Given the description of an element on the screen output the (x, y) to click on. 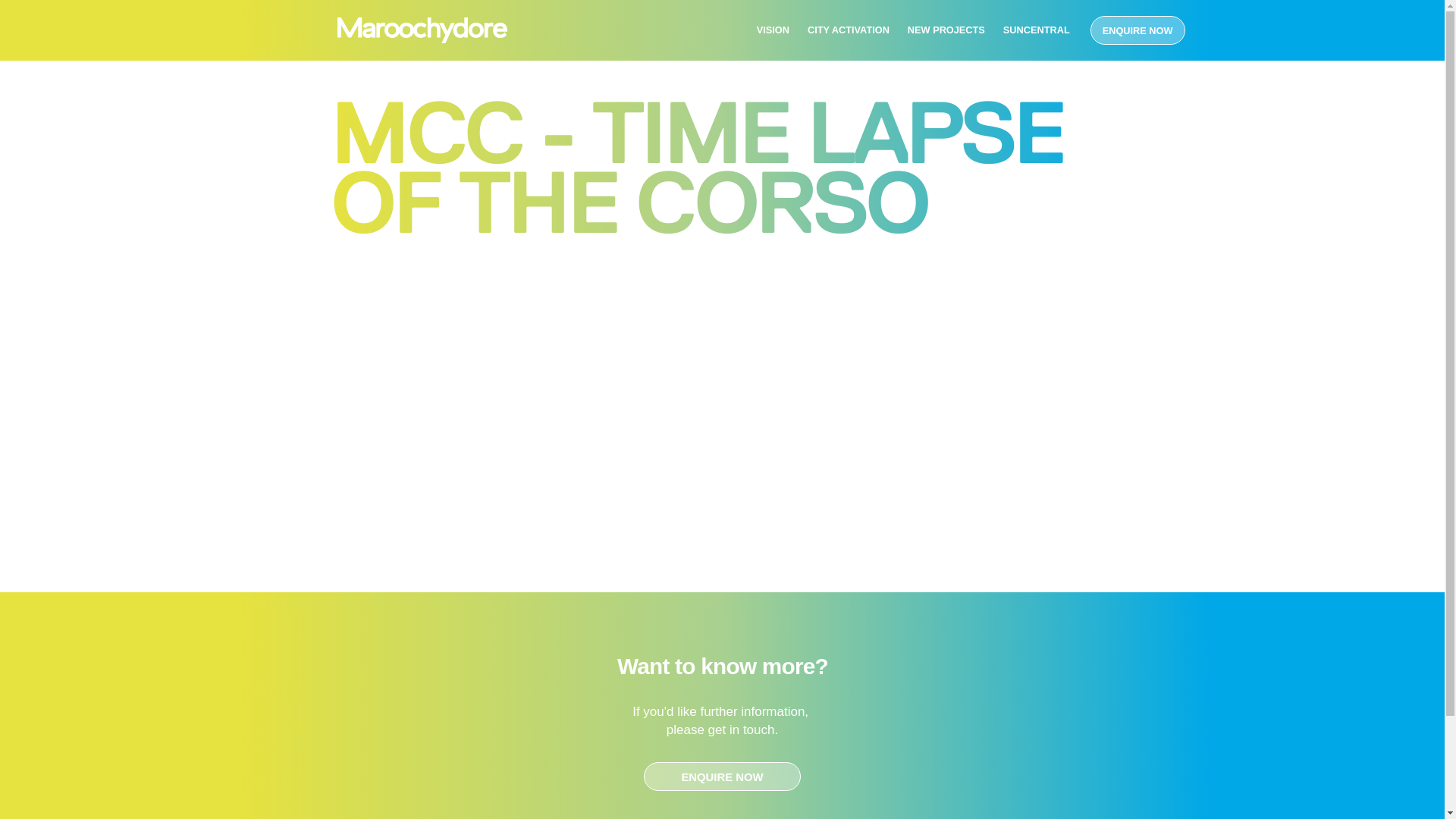
CITY ACTIVATION Element type: text (848, 30)
Home Element type: hover (421, 30)
Skip to main content Element type: text (0, 60)
ENQUIRE NOW Element type: text (721, 776)
ENQUIRE NOW Element type: text (1137, 29)
NEW PROJECTS Element type: text (946, 30)
VISION Element type: text (772, 30)
SUNCENTRAL Element type: text (1036, 30)
